Given the description of an element on the screen output the (x, y) to click on. 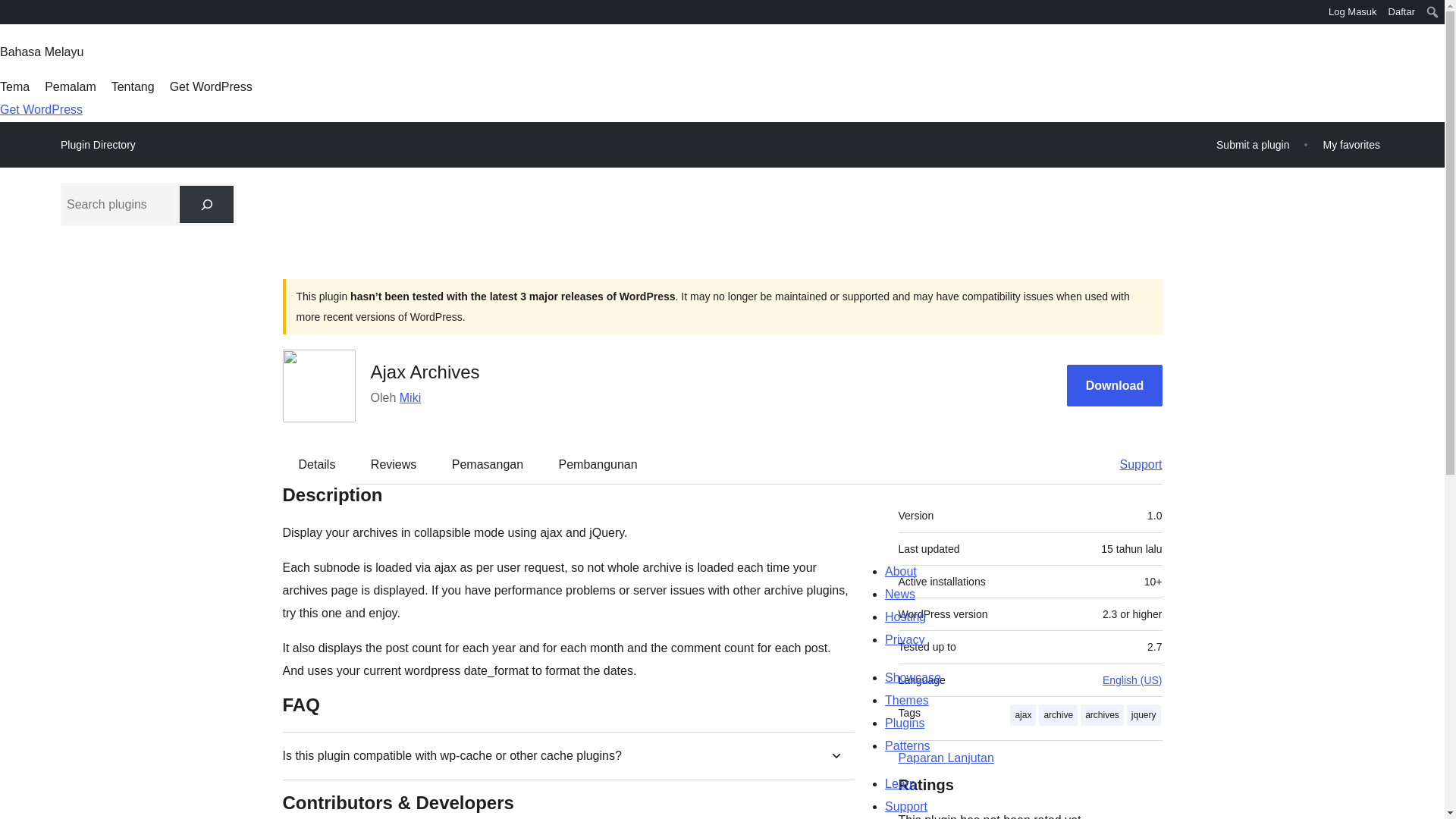
Plugin Directory (97, 144)
Download (1114, 385)
Miki (409, 397)
ajax (1022, 715)
archive (1058, 715)
Support (1132, 464)
Log Masuk (1353, 12)
Pemasangan (487, 464)
Daftar (1402, 12)
WordPress.org (10, 10)
My favorites (1351, 144)
Get WordPress (210, 87)
archives (1102, 715)
Reviews (392, 464)
Get WordPress (41, 109)
